Given the description of an element on the screen output the (x, y) to click on. 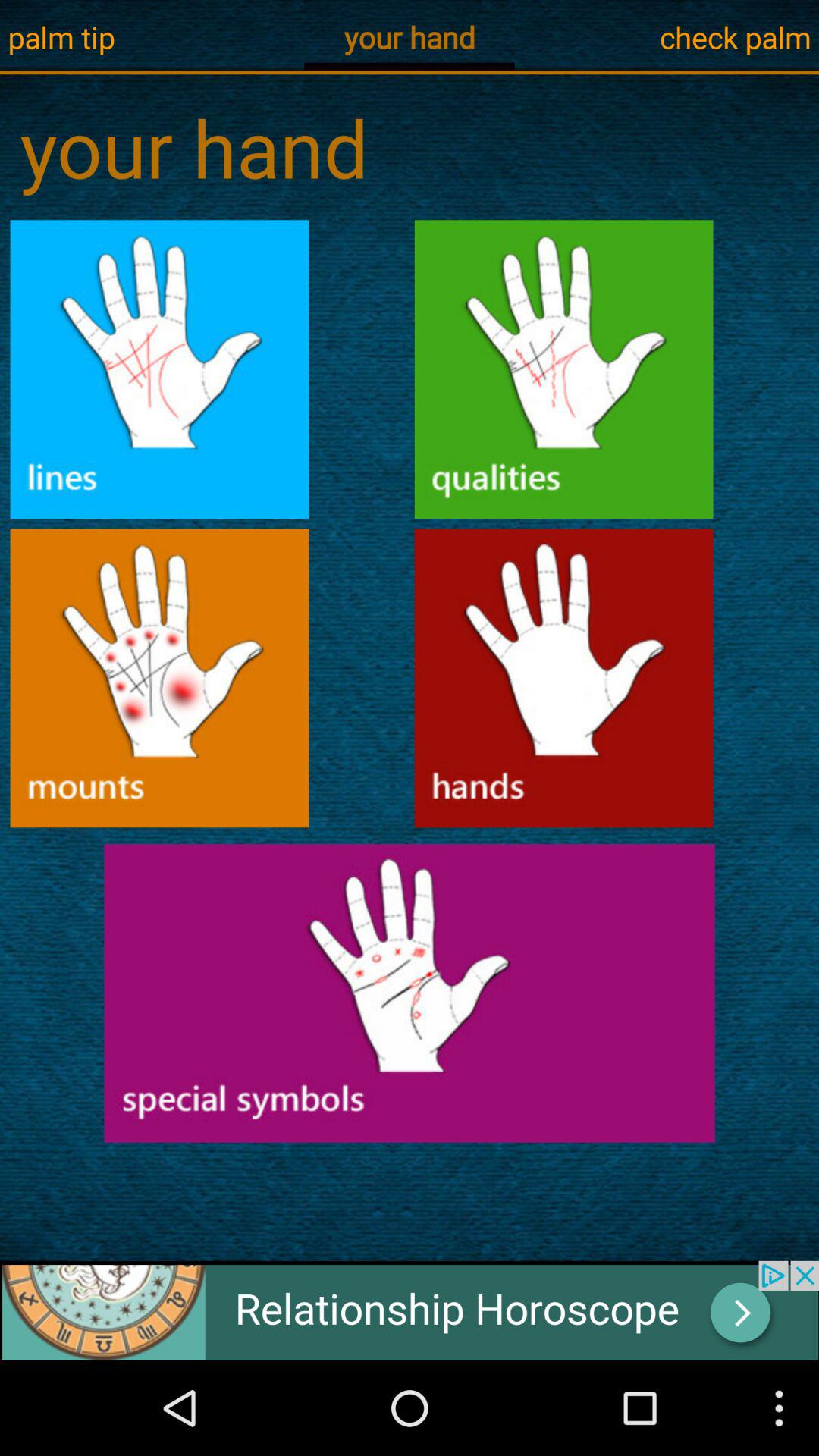
select mounts option (159, 677)
